Given the description of an element on the screen output the (x, y) to click on. 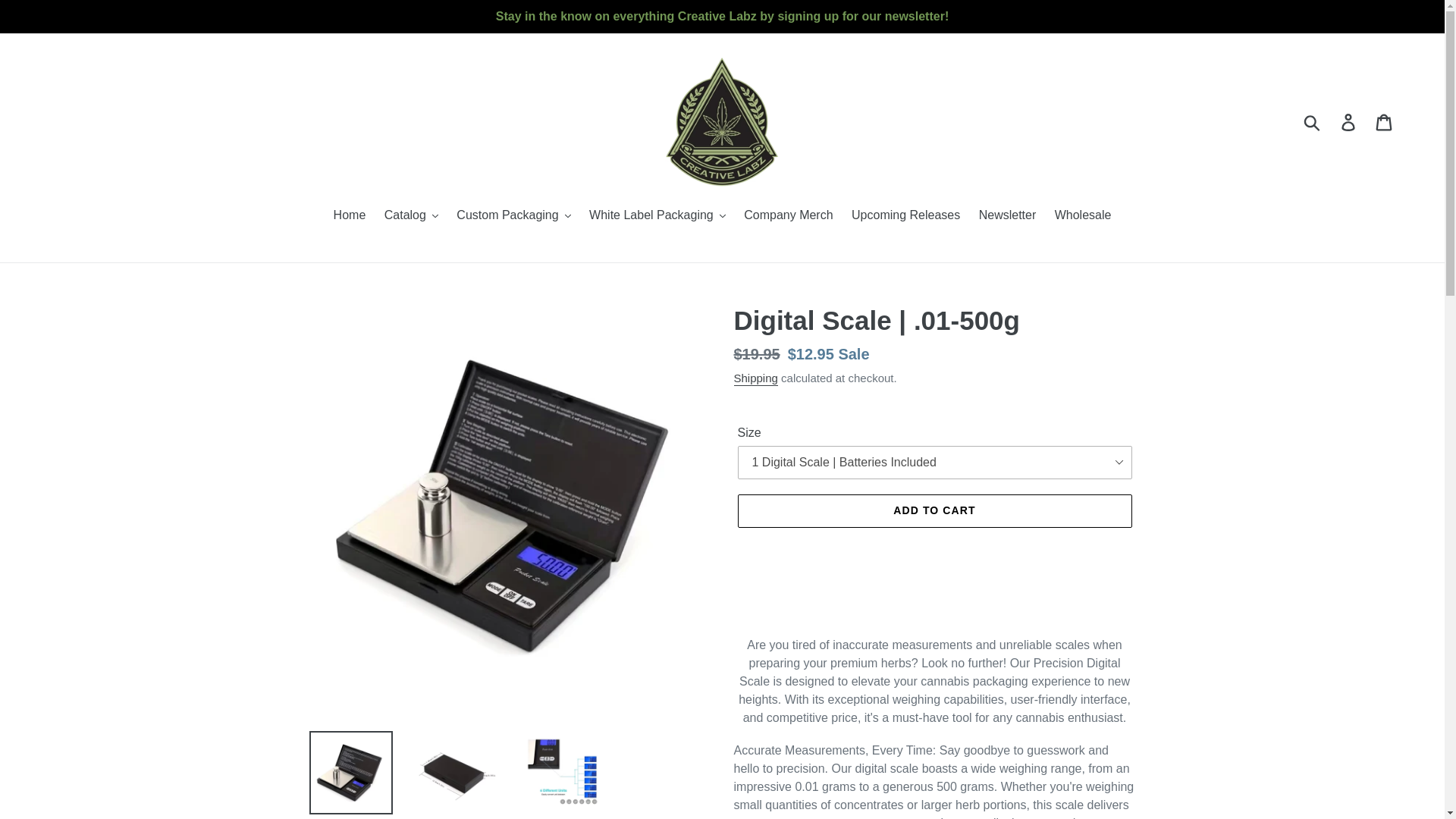
Log in (1349, 121)
Submit (1313, 121)
Cart (1385, 121)
